Given the description of an element on the screen output the (x, y) to click on. 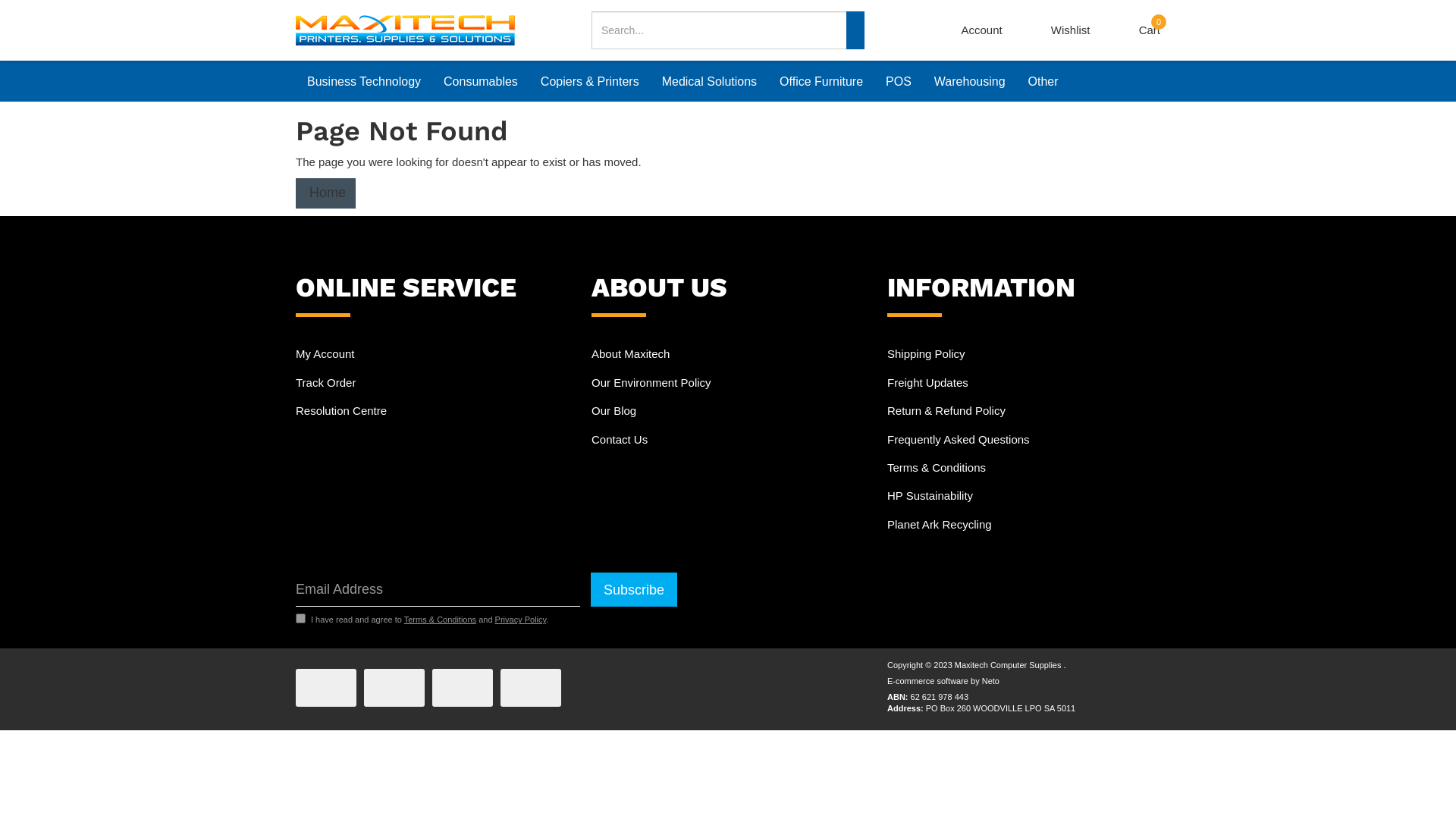
Privacy Policy Element type: text (520, 619)
Business Technology Element type: text (363, 80)
Office Furniture Element type: text (821, 80)
Other Element type: text (1043, 80)
Terms & Conditions Element type: text (1023, 467)
About Maxitech Element type: text (727, 353)
HP Sustainability Element type: text (1023, 495)
Planet Ark Recycling Element type: text (1023, 524)
Terms & Conditions Element type: text (440, 619)
Freight Updates Element type: text (1023, 382)
Home Element type: text (325, 193)
Our Environment Policy Element type: text (727, 382)
Consumables Element type: text (480, 80)
My Account Element type: text (431, 353)
Our Blog Element type: text (727, 410)
Subscribe Element type: text (633, 589)
Medical Solutions Element type: text (709, 80)
E-commerce software by Neto Element type: text (943, 680)
Contact Us Element type: text (727, 439)
Account Element type: text (981, 29)
Frequently Asked Questions Element type: text (1023, 439)
Return & Refund Policy Element type: text (1023, 410)
Search Element type: text (855, 30)
Resolution Centre Element type: text (431, 410)
Copiers & Printers Element type: text (589, 80)
Track Order Element type: text (431, 382)
Warehousing Element type: text (969, 80)
POS Element type: text (898, 80)
Maxitech Computer Supplies  Element type: hover (404, 28)
Wishlist Element type: text (1070, 29)
0
Cart Element type: text (1149, 29)
Shipping Policy Element type: text (1023, 353)
